Given the description of an element on the screen output the (x, y) to click on. 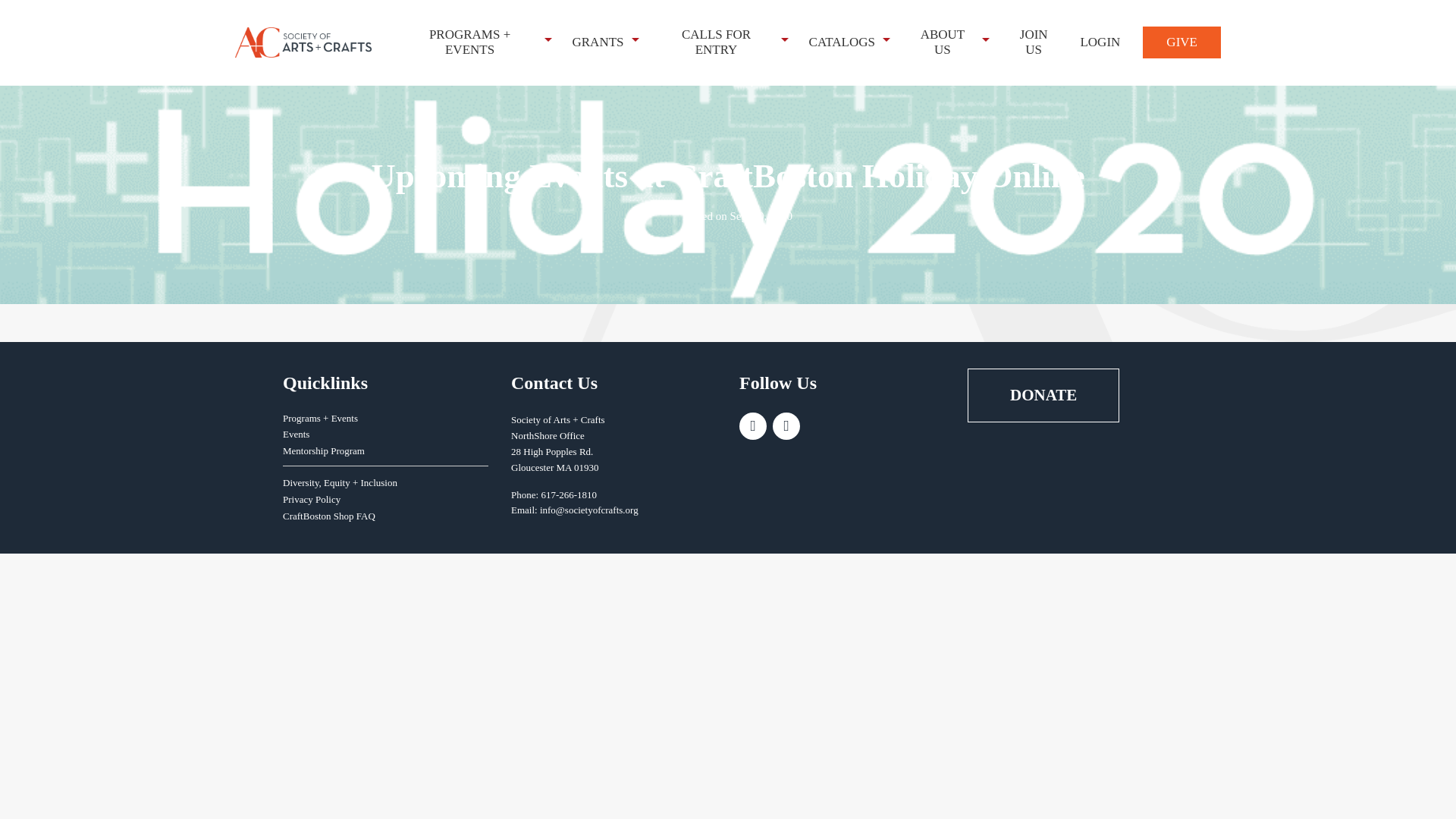
GIVE (1181, 42)
GRANTS (600, 42)
ABOUT US (945, 42)
CATALOGS (844, 42)
The Society of Arts and Crafts (307, 42)
LOGIN (1102, 42)
CALLS FOR ENTRY (718, 42)
The Society of Arts and Crafts (302, 42)
JOIN US (1036, 42)
